Given the description of an element on the screen output the (x, y) to click on. 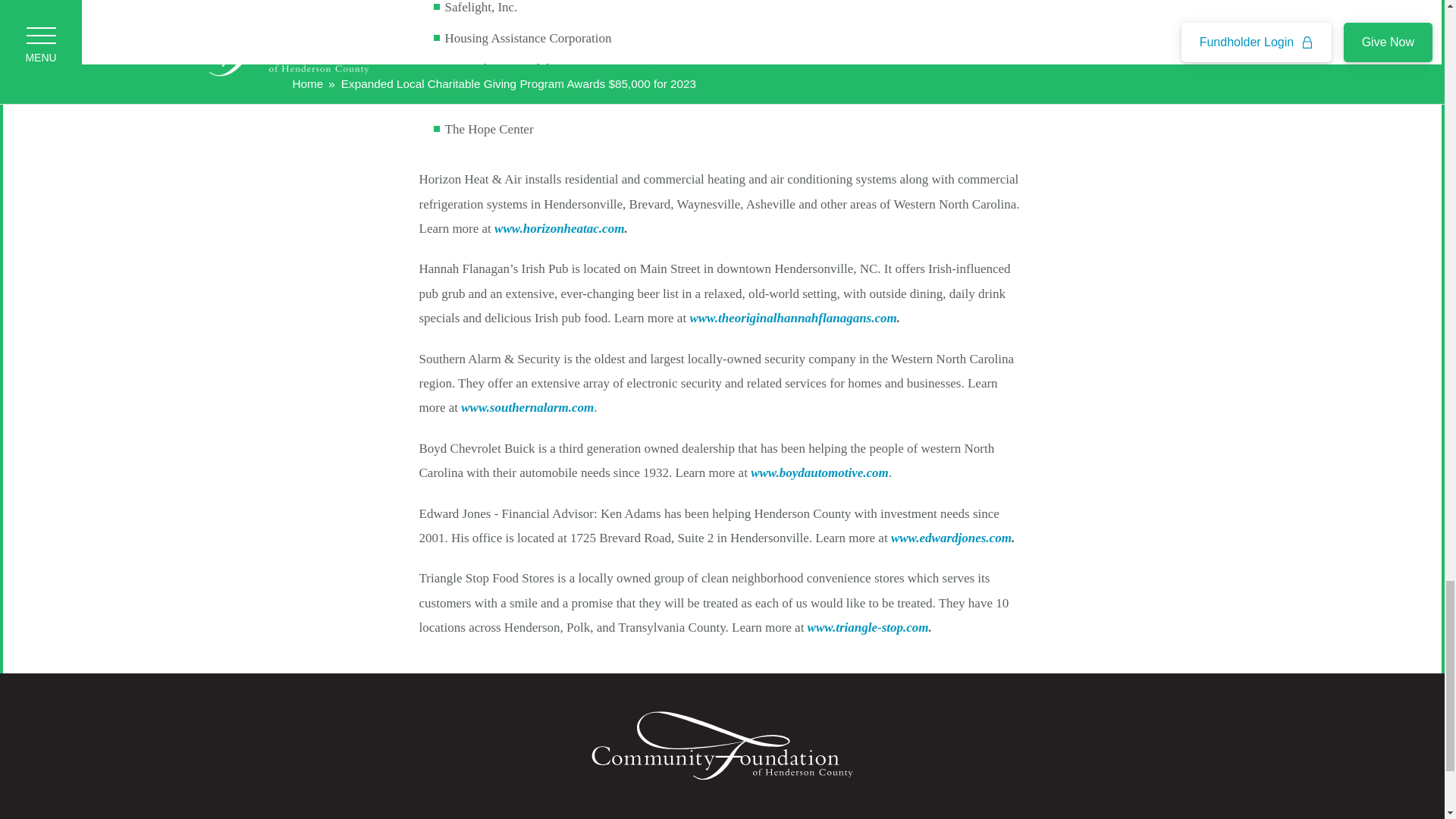
www.triangle-stop.com (868, 626)
www.boydautomotive.com (819, 472)
www.horizonheatac.com (559, 228)
www.southernalarm.com (527, 407)
www.edwardjones.com (951, 537)
www.theoriginalhannahflanagans.com (792, 318)
